Given the description of an element on the screen output the (x, y) to click on. 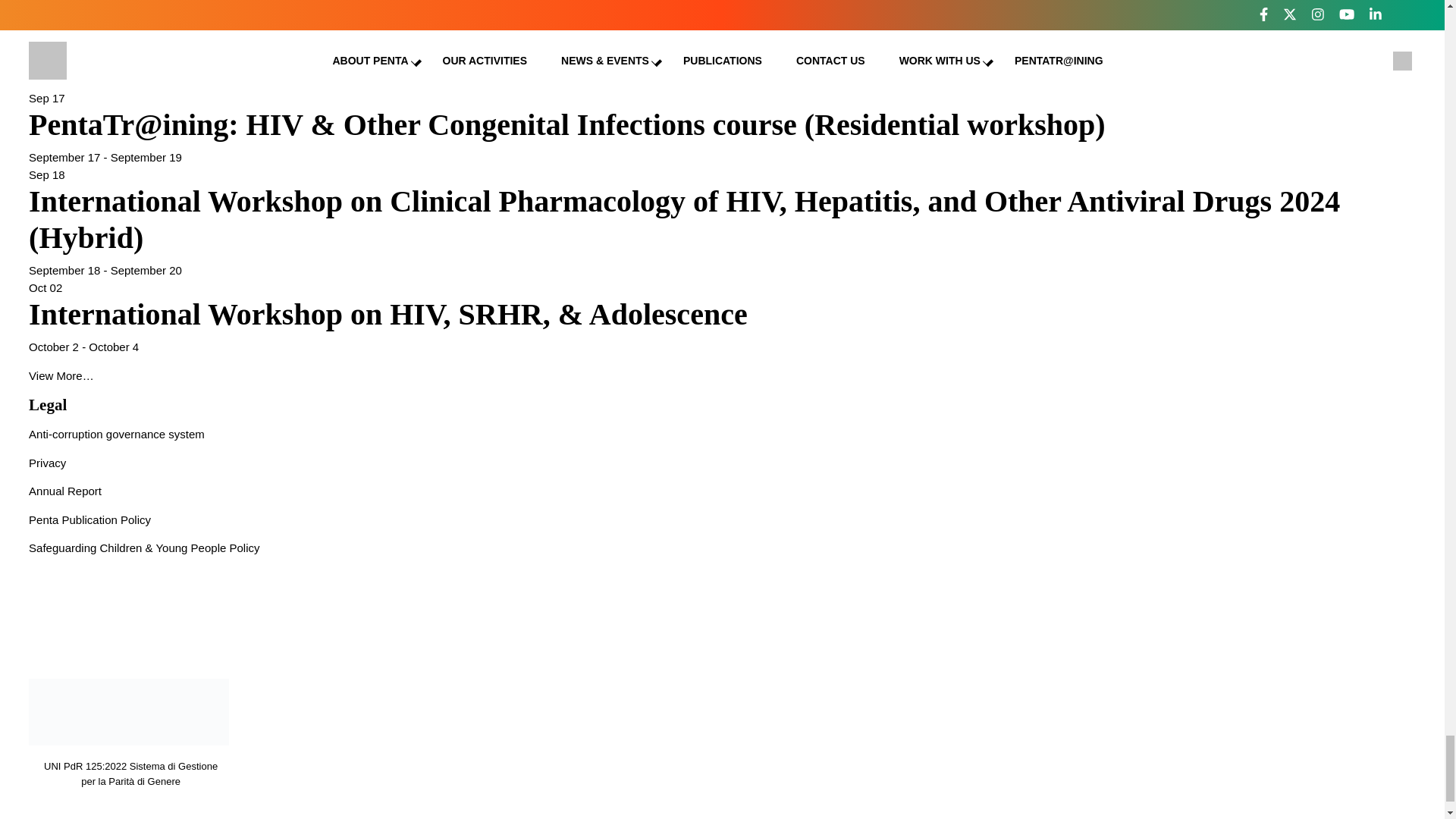
Help us improve our website! (129, 54)
